Given the description of an element on the screen output the (x, y) to click on. 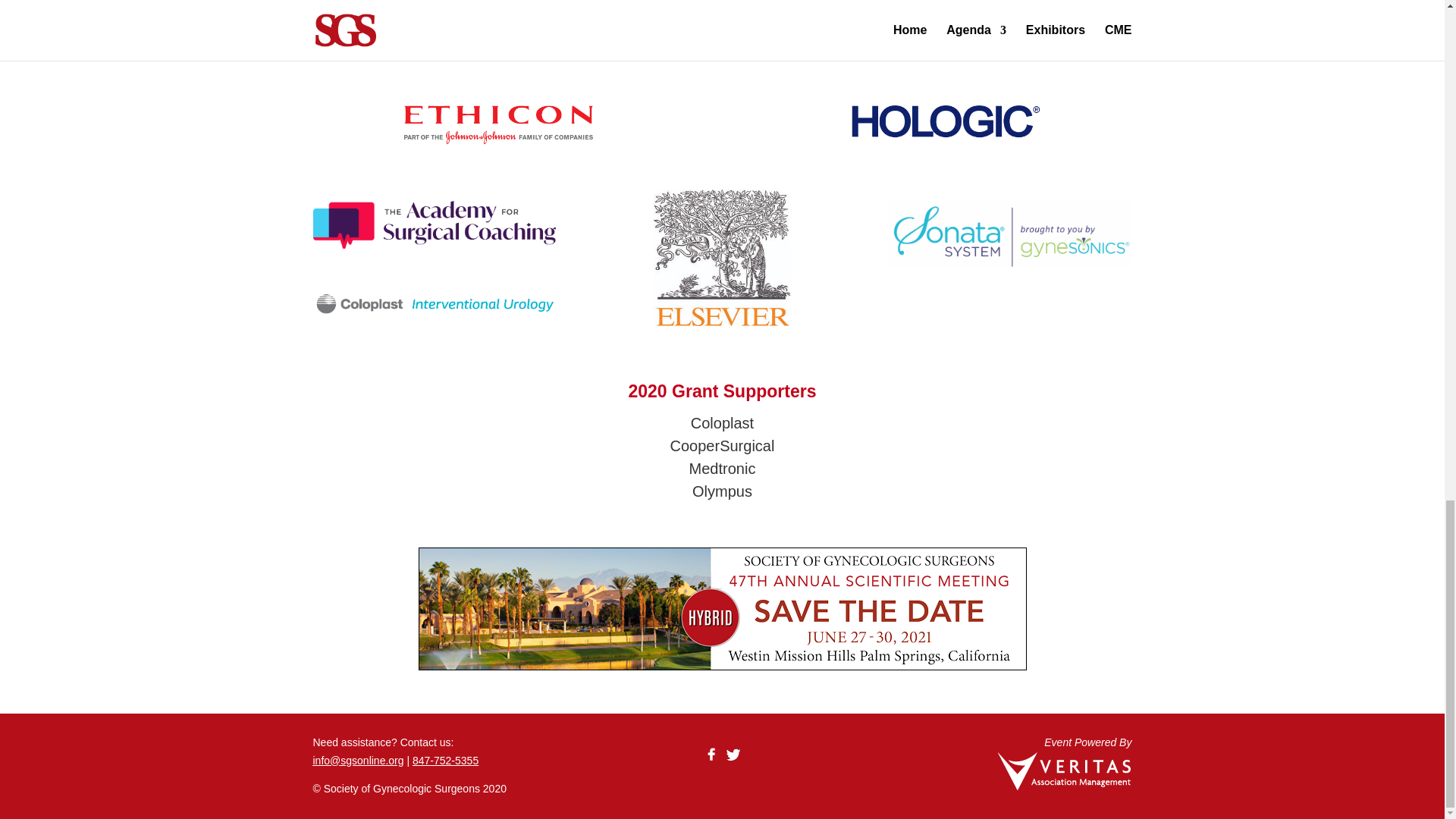
847-752-5355 (445, 760)
